Given the description of an element on the screen output the (x, y) to click on. 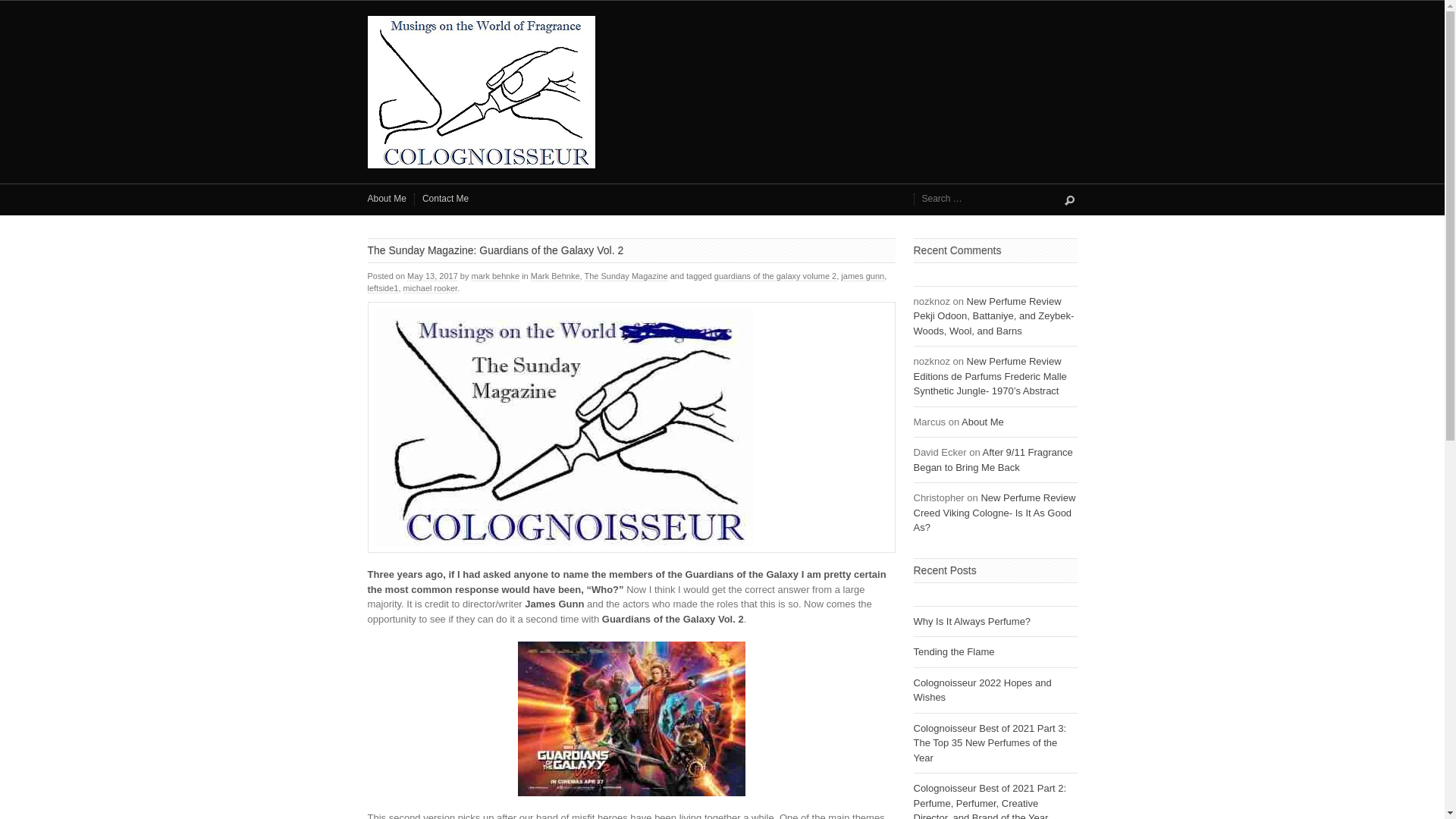
james gunn (862, 276)
The Sunday Magazine: Guardians of the Galaxy Vol. 2 (494, 250)
Colognoisseur 2022 Hopes and Wishes (981, 690)
The Sunday Magazine (626, 276)
May 13, 2017 (432, 276)
guardians of the galaxy volume 2 (774, 276)
About Me (982, 421)
Colognoisseur (721, 91)
leftside1 (381, 288)
Mark Behnke (555, 276)
11:10 pm (432, 276)
michael rooker (430, 288)
The Sunday Magazine: Guardians of the Galaxy Vol. 2 (631, 427)
Why Is It Always Perfume? (971, 621)
